Given the description of an element on the screen output the (x, y) to click on. 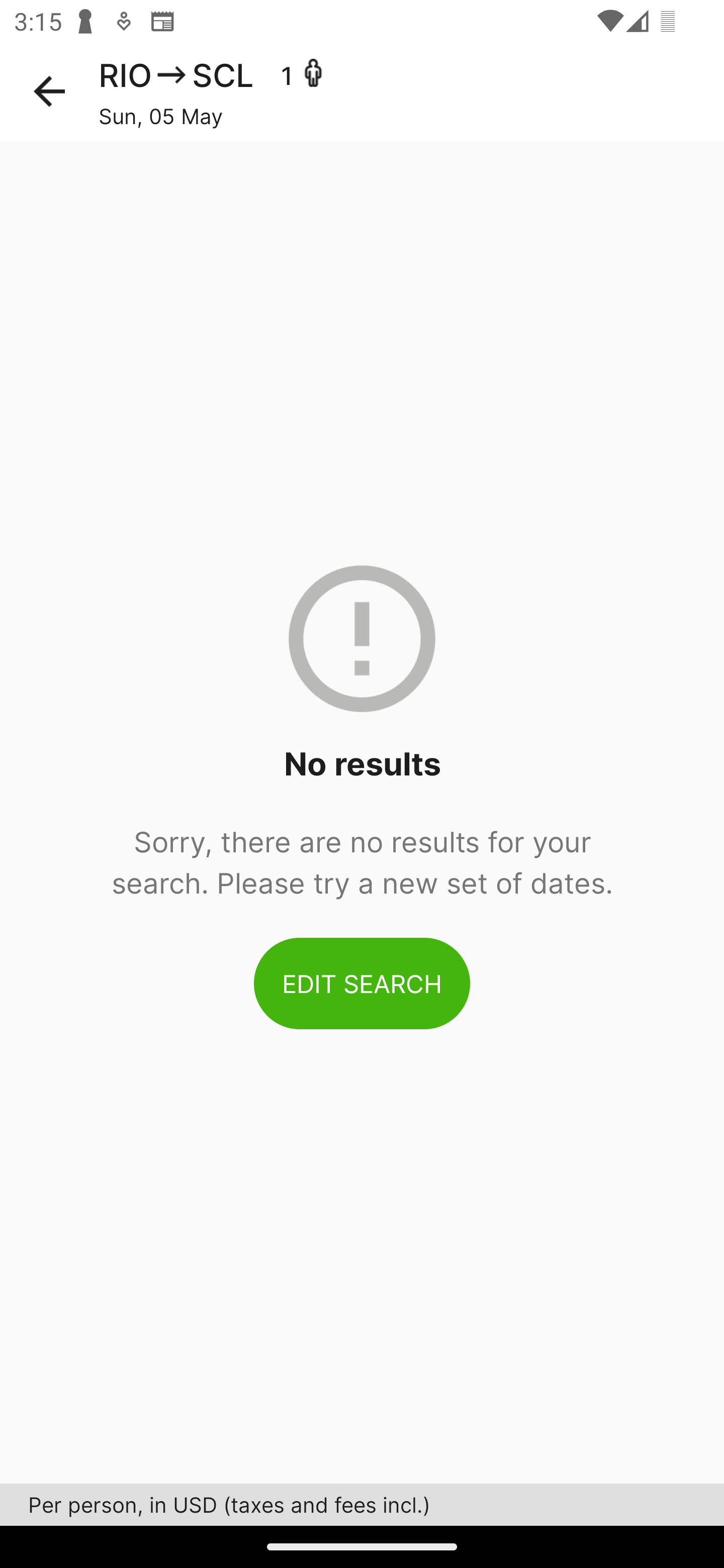
RIO SCL   1 - Sun, 05 May (411, 91)
EDIT SEARCH (361, 982)
